Given the description of an element on the screen output the (x, y) to click on. 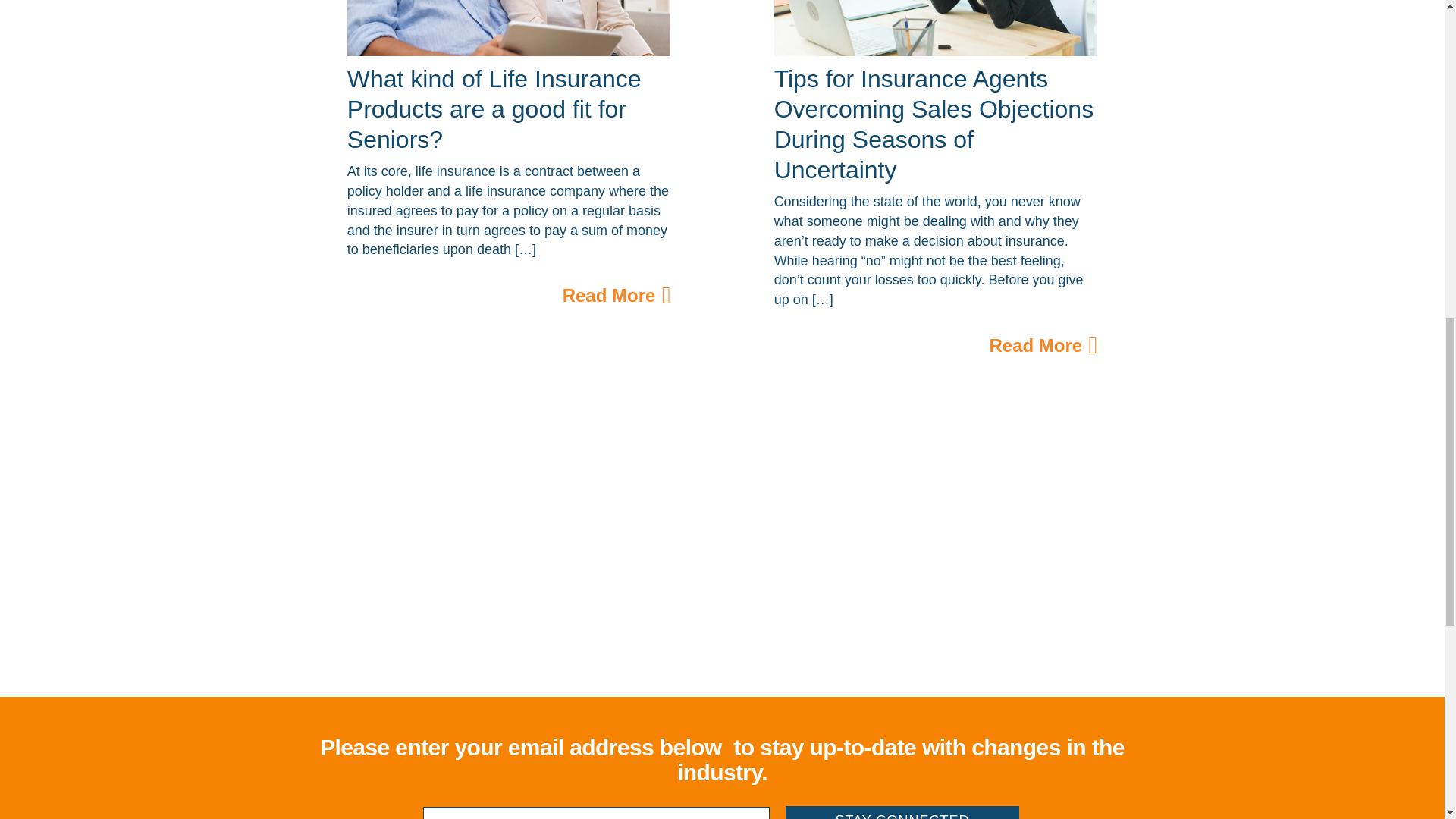
Stay Connected (901, 812)
